Given the description of an element on the screen output the (x, y) to click on. 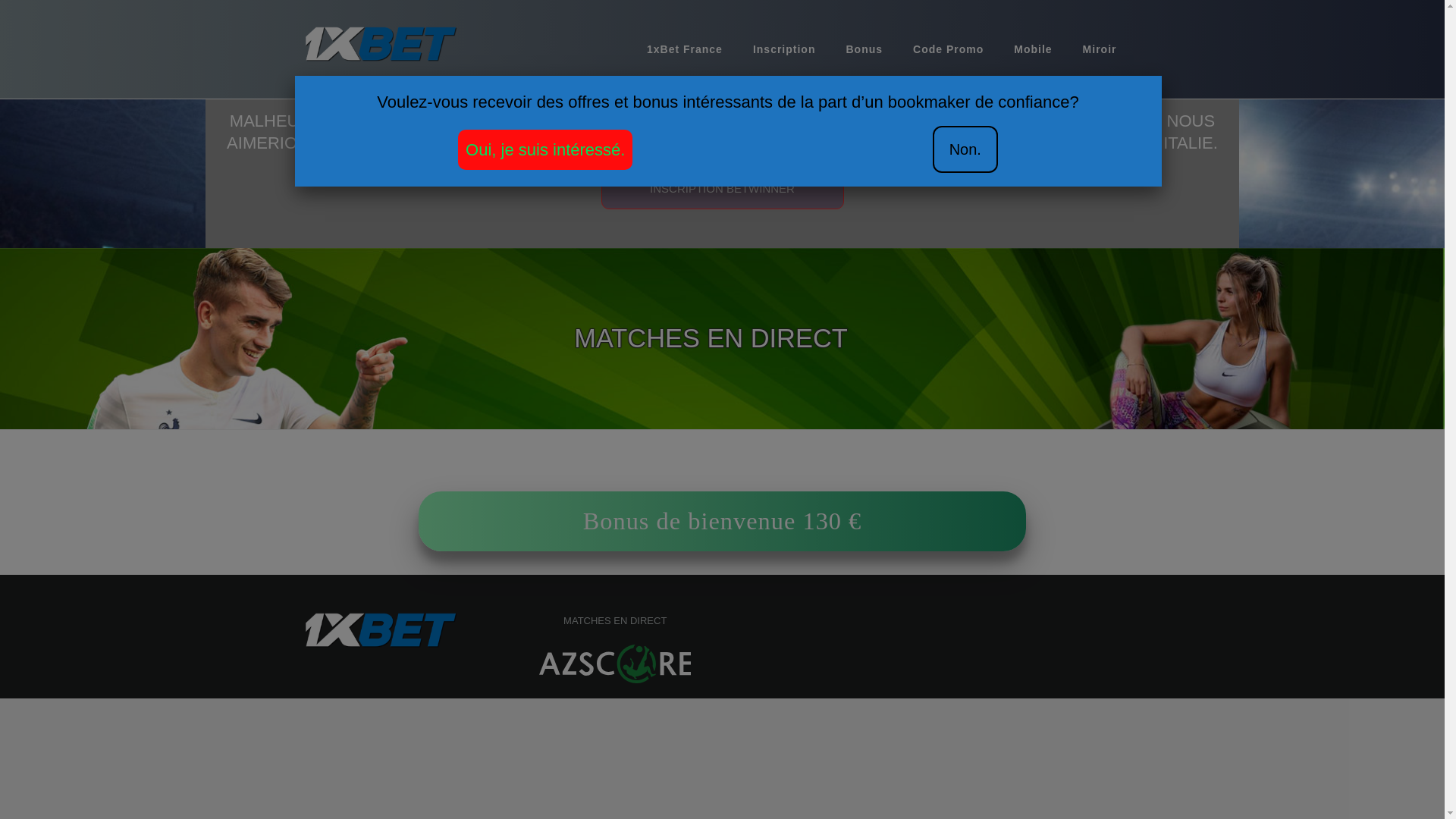
1xBet France Element type: text (684, 48)
Inscription Element type: text (784, 48)
INSCRIPTION BETWINNER Element type: text (721, 189)
Mobile Element type: text (1032, 48)
MATCHES EN DIRECT Element type: text (615, 620)
Bonus Element type: text (863, 48)
Miroir Element type: text (1099, 48)
Code Promo Element type: text (948, 48)
